Given the description of an element on the screen output the (x, y) to click on. 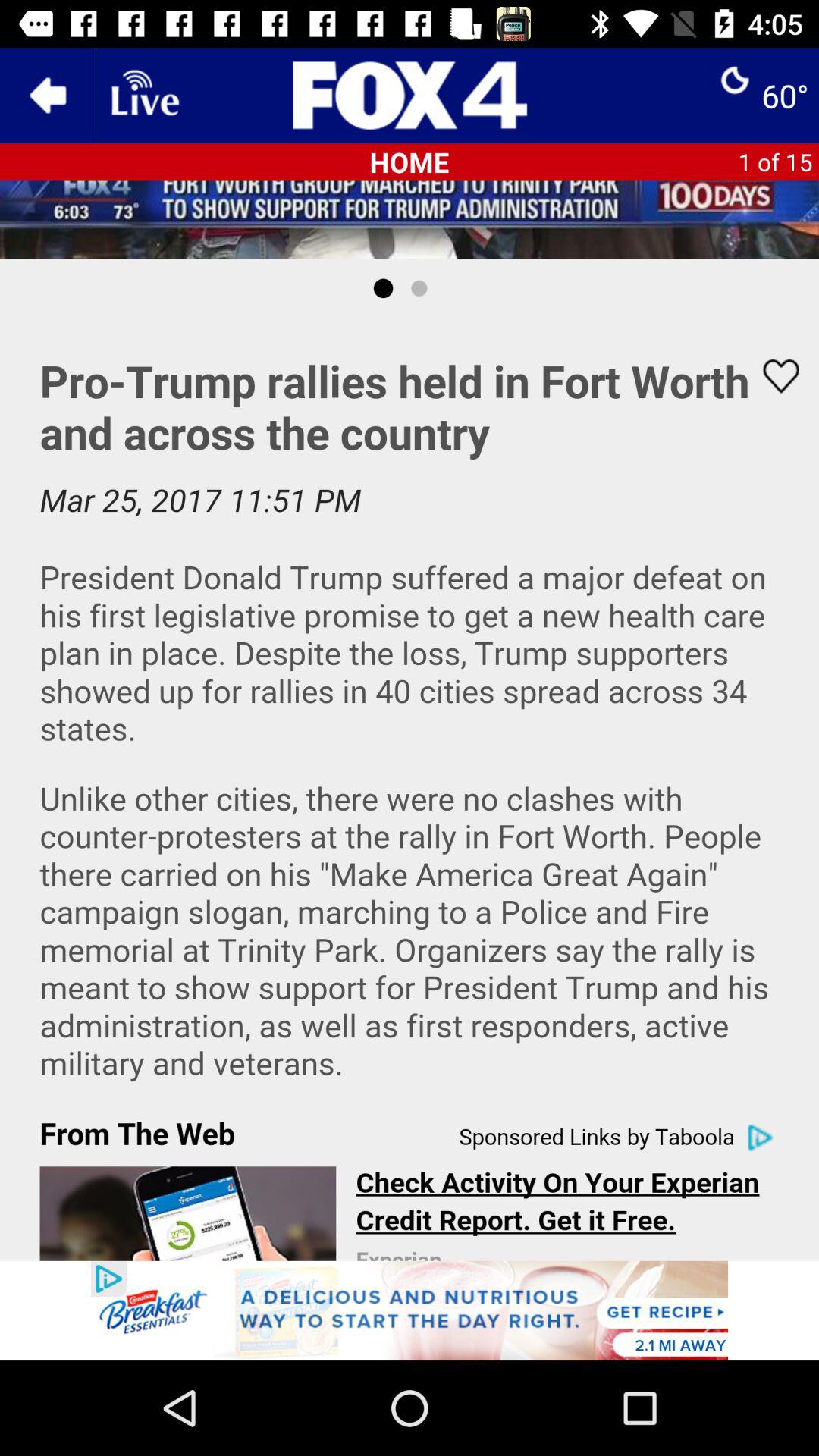
go to advertiser website (409, 1310)
